Given the description of an element on the screen output the (x, y) to click on. 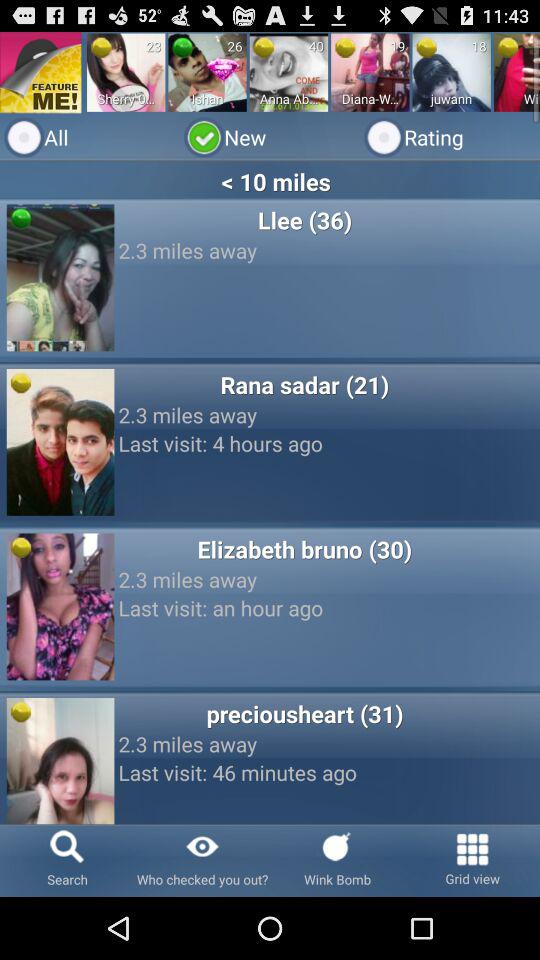
tap app above diana-whatspp-5537011849 app (345, 47)
